Given the description of an element on the screen output the (x, y) to click on. 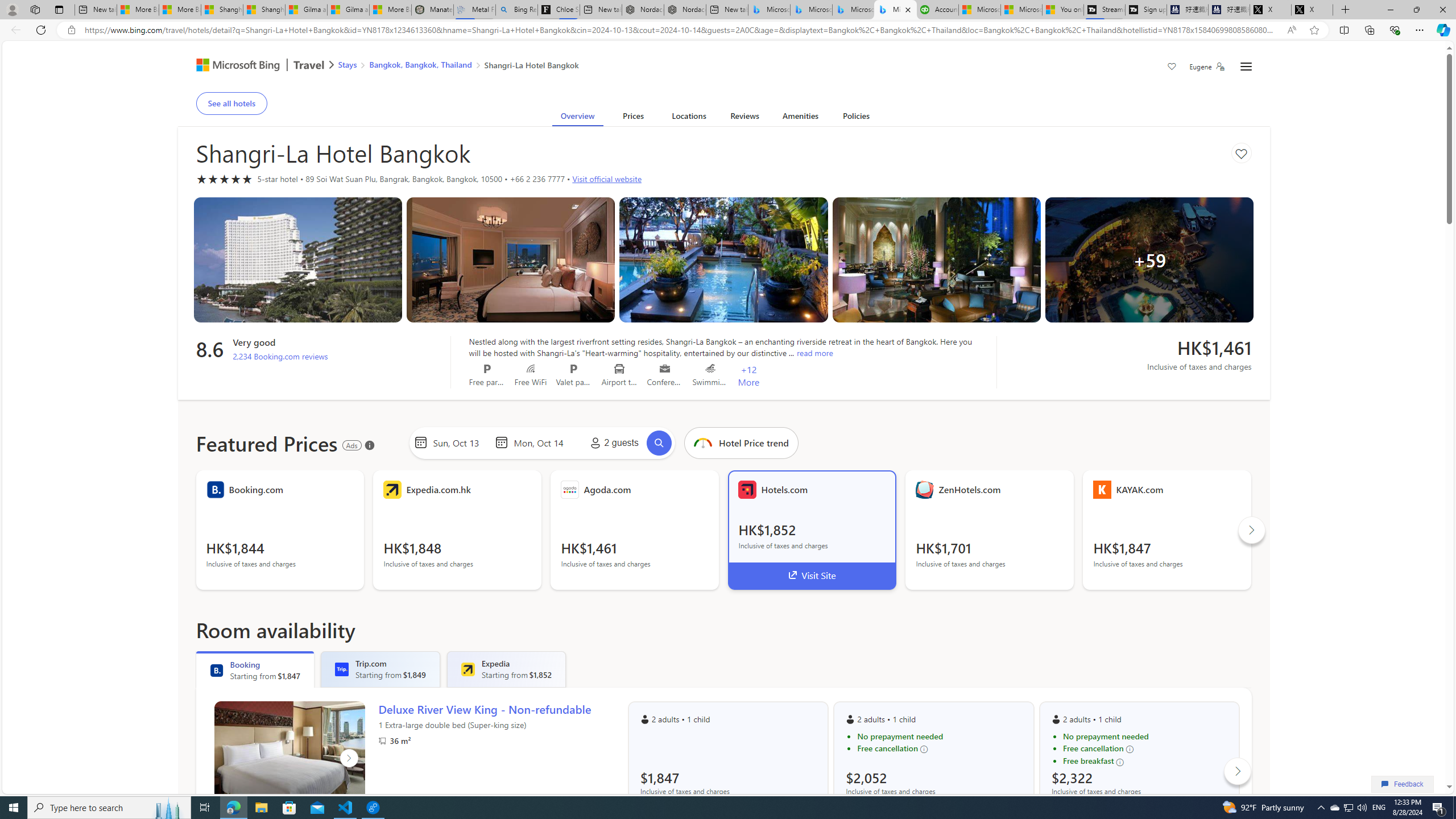
Bangkok, Bangkok, Thailand (420, 64)
AutomationID: bread-crumb-root (451, 66)
Class: trvl-hub-header (723, 65)
End date (541, 442)
Vendor Logo (1102, 489)
Microsoft Bing Travel - Stays in Bangkok, Bangkok, Thailand (810, 9)
Hotel room image (936, 259)
Conference rooms (665, 368)
